Given the description of an element on the screen output the (x, y) to click on. 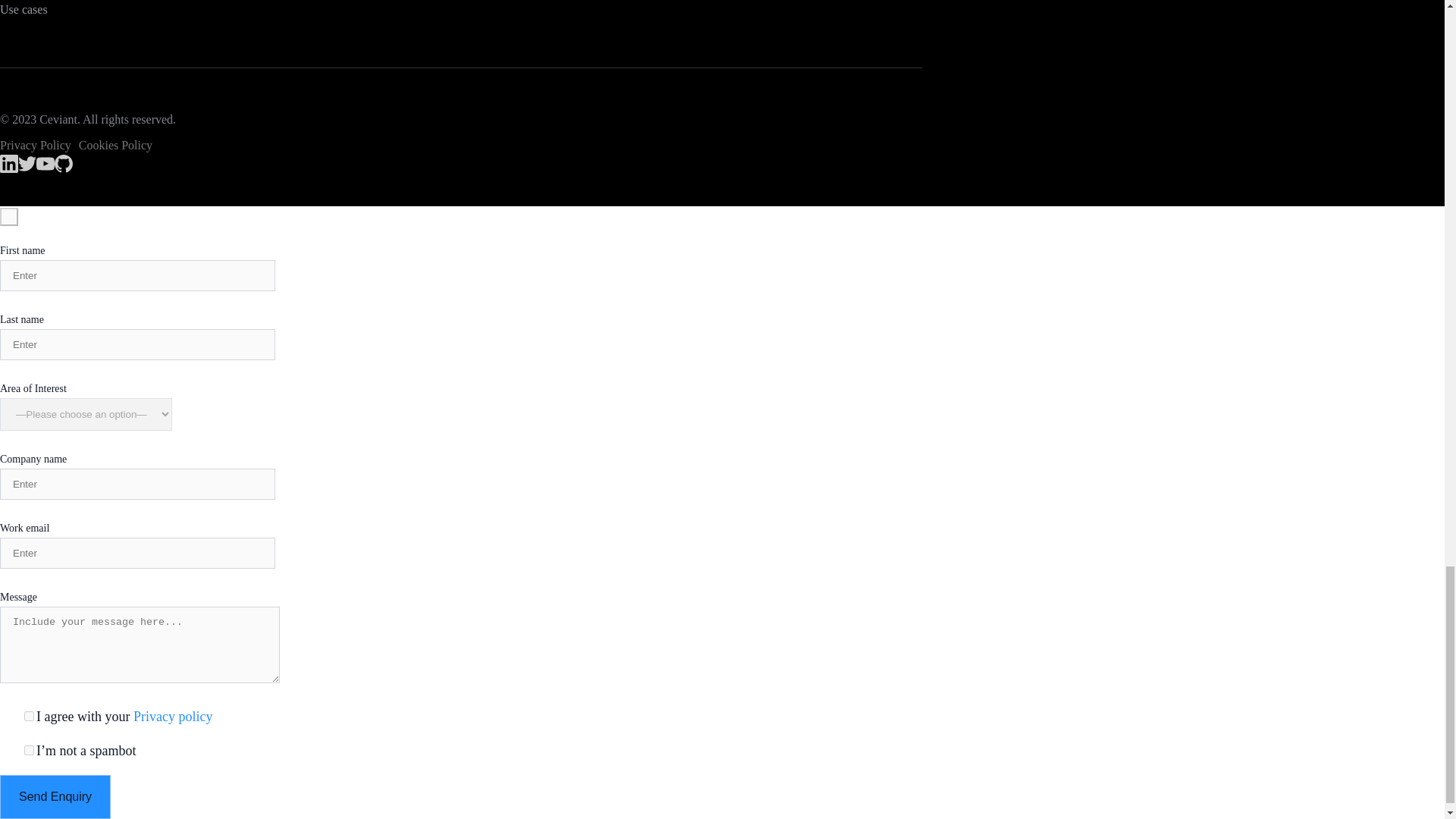
1 (28, 750)
1 (28, 716)
